Given the description of an element on the screen output the (x, y) to click on. 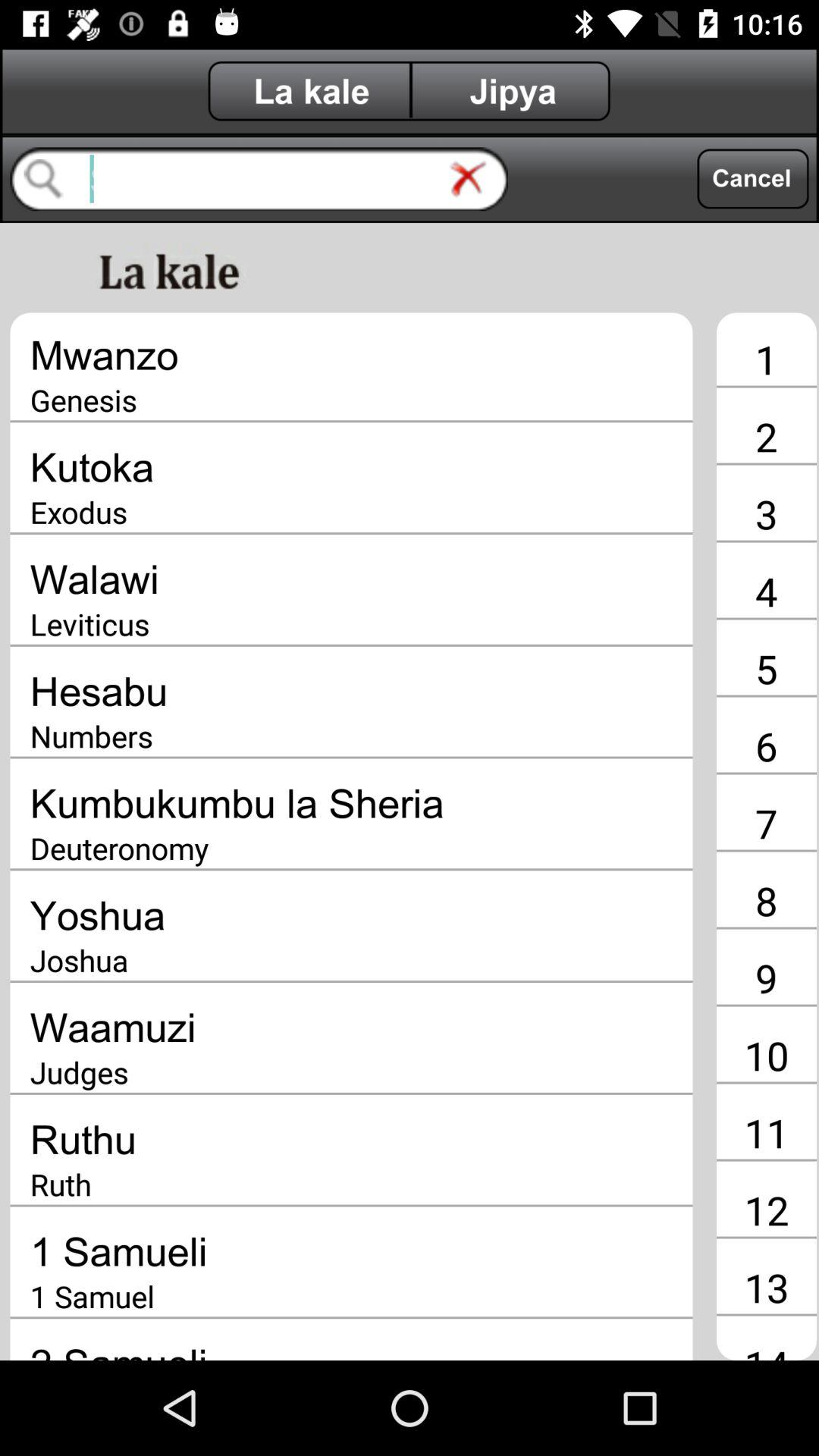
choose the app next to the kumbukumbu la sheria icon (766, 822)
